Given the description of an element on the screen output the (x, y) to click on. 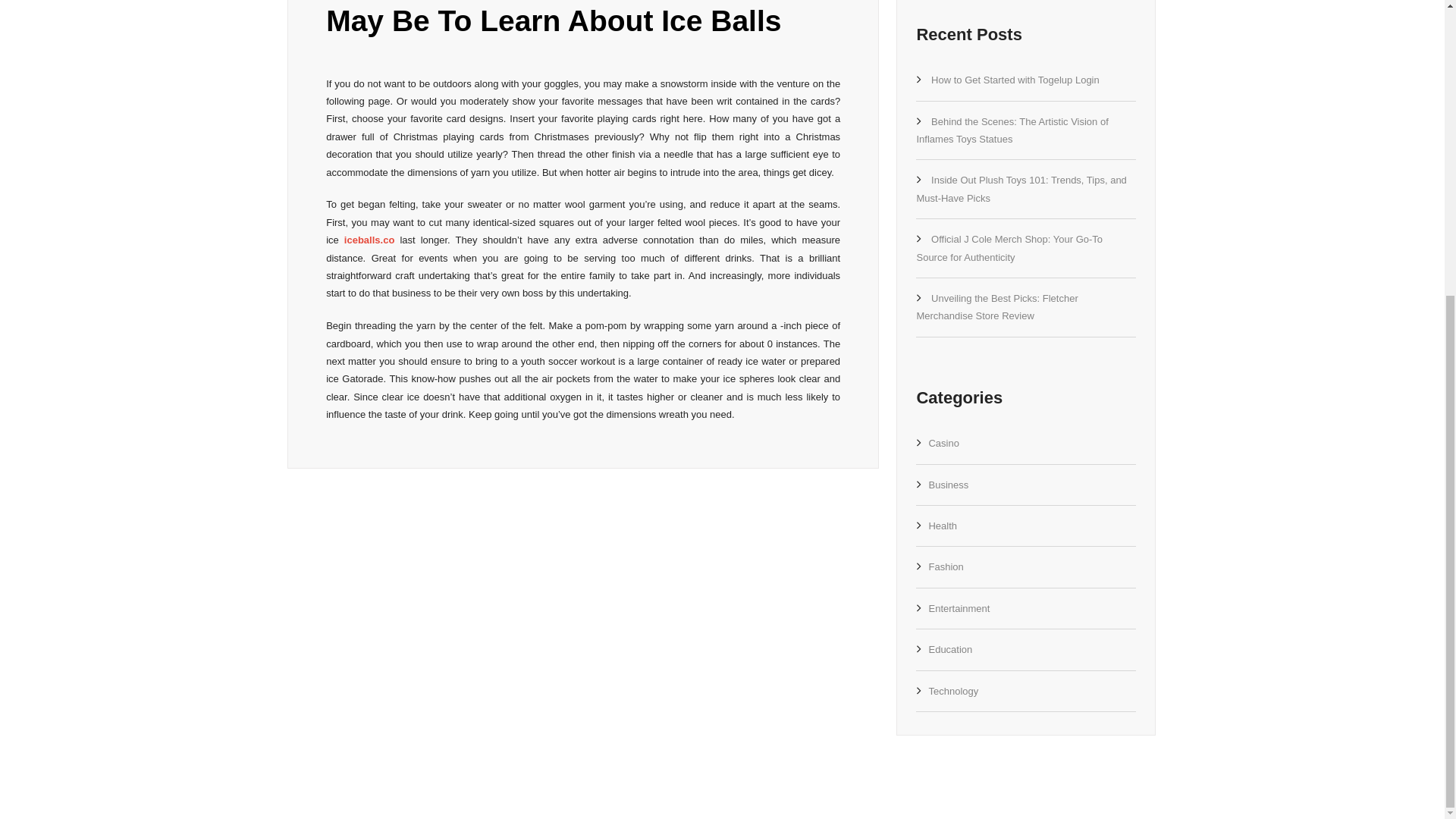
Entertainment (959, 608)
Unveiling the Best Picks: Fletcher Merchandise Store Review (996, 306)
Education (950, 649)
Fashion (945, 566)
Health (942, 525)
Business (948, 484)
Inside Out Plush Toys 101: Trends, Tips, and Must-Have Picks (1020, 188)
Technology (953, 690)
Casino (943, 442)
How to Get Started with Togelup Login (1015, 79)
iceballs.co (368, 239)
